Given the description of an element on the screen output the (x, y) to click on. 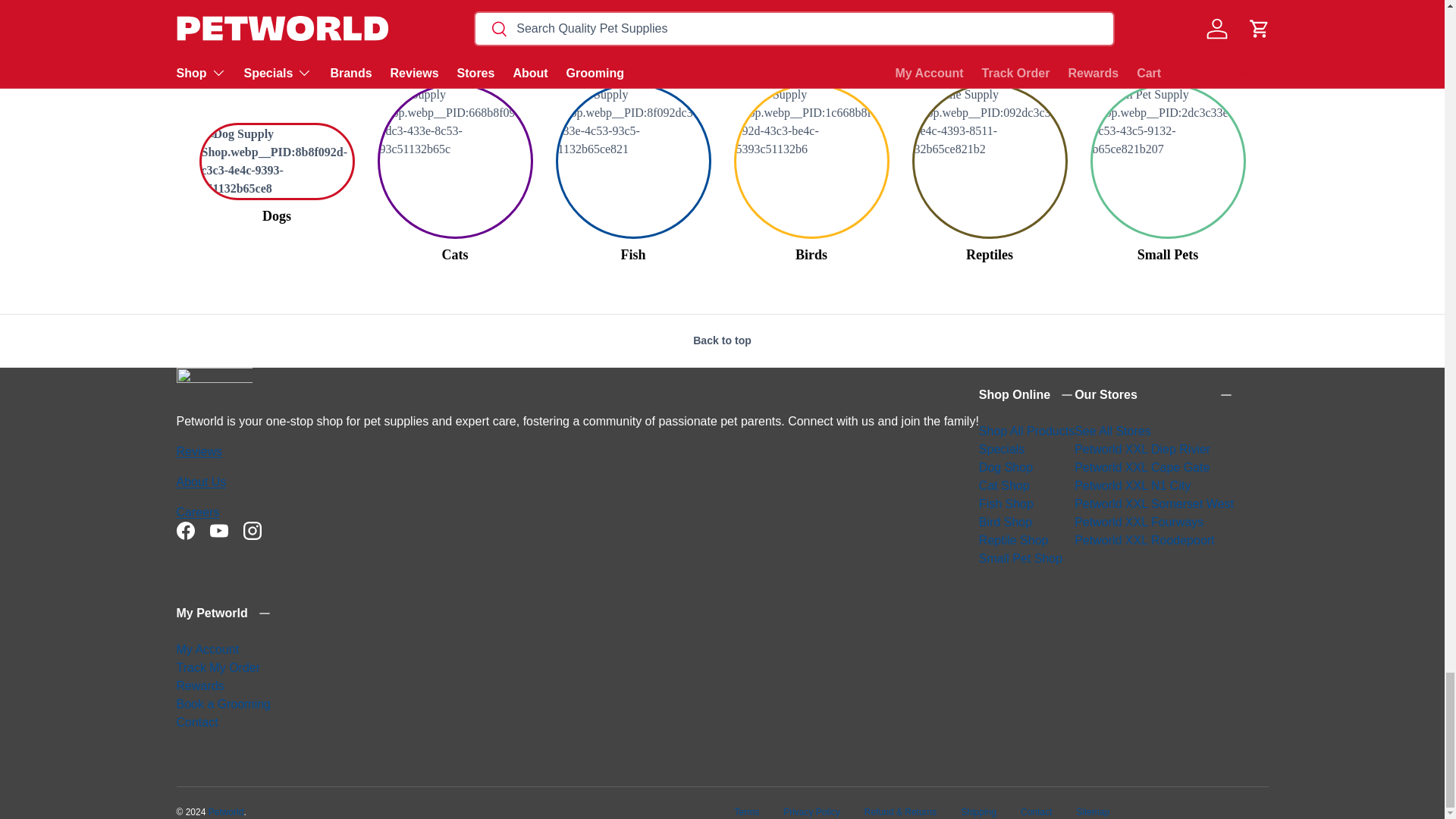
Customer Reviews (198, 451)
Petworld on Facebook (185, 530)
Petworld on Instagram (250, 530)
Petworld on YouTube (218, 530)
About (200, 481)
